Given the description of an element on the screen output the (x, y) to click on. 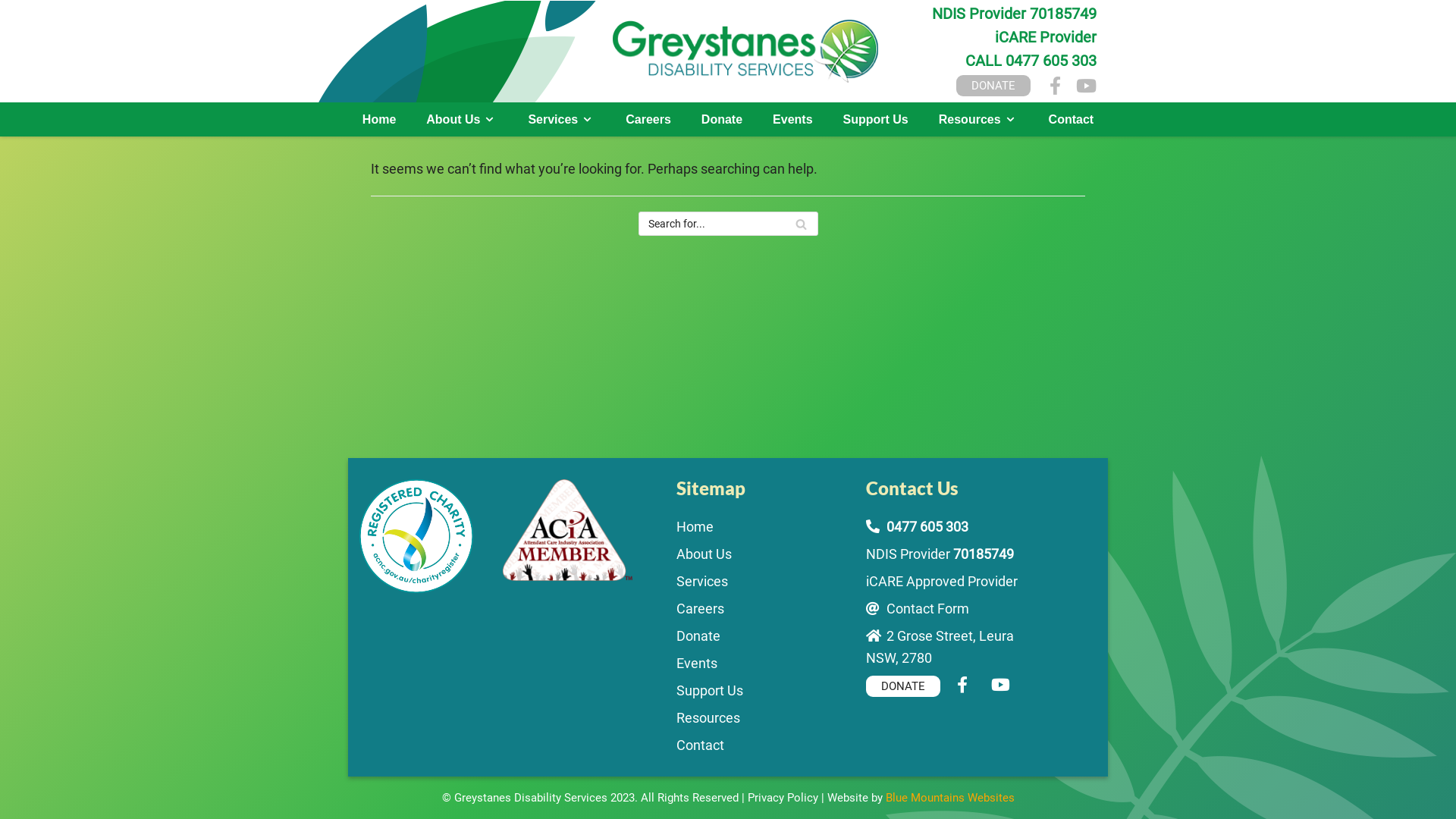
Careers Element type: text (700, 608)
Events Element type: text (696, 663)
Contact Form Element type: text (927, 608)
Contact Element type: text (700, 745)
Donate Element type: text (721, 119)
Privacy Policy Element type: text (782, 797)
Donate Element type: text (698, 635)
Contact Element type: text (1071, 119)
Support Us Element type: text (709, 690)
Greystanes Disability Services Element type: hover (745, 50)
DONATE Element type: text (993, 85)
0477 605 303 Element type: text (1050, 60)
Greystanes Disability Services Element type: text (531, 797)
Home Element type: text (694, 526)
0477 605 303 Element type: text (927, 526)
DONATE Element type: text (903, 685)
Support Us Element type: text (875, 119)
About Us Element type: text (461, 119)
Blue Mountains Websites Element type: text (949, 797)
Resources Element type: text (708, 717)
Home Element type: text (378, 119)
Services Element type: text (561, 119)
Resources Element type: text (978, 119)
About Us Element type: text (703, 553)
Events Element type: text (792, 119)
Skip to content Element type: text (15, 7)
Careers Element type: text (648, 119)
Services Element type: text (702, 581)
